Given the description of an element on the screen output the (x, y) to click on. 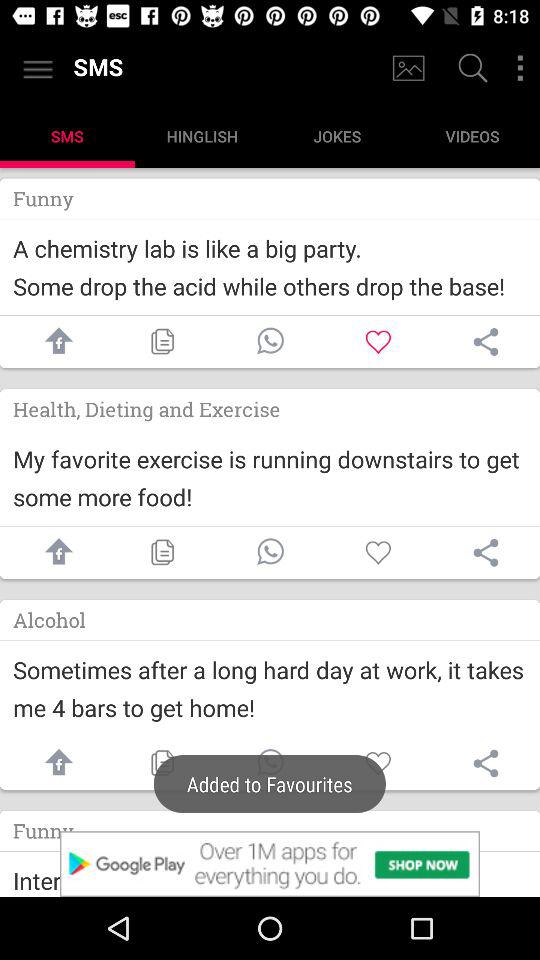
call button (270, 341)
